Given the description of an element on the screen output the (x, y) to click on. 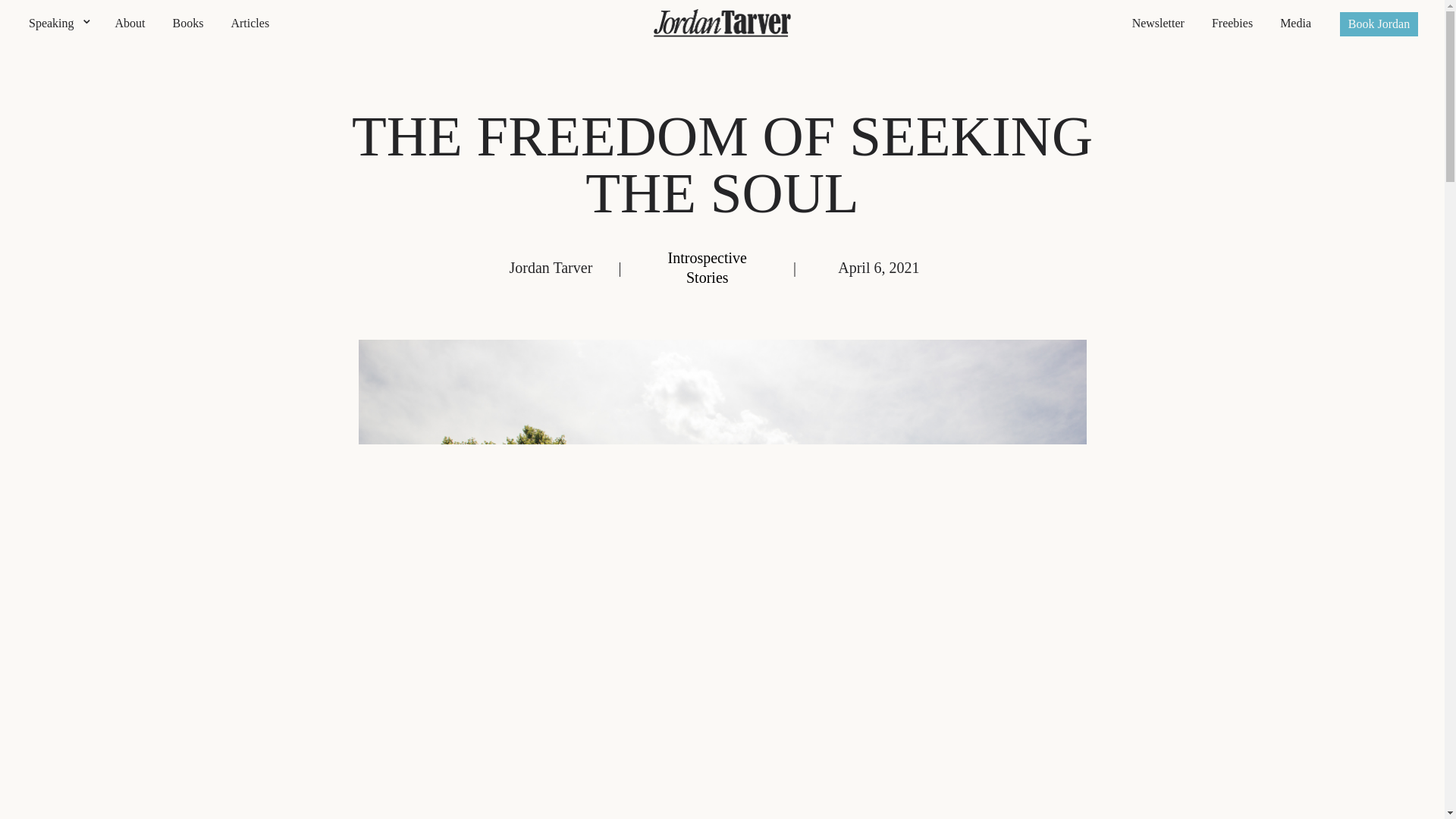
Introspective Stories (707, 267)
Articles (249, 23)
Freebies (1232, 23)
Book Jordan (1378, 24)
Newsletter (1158, 23)
About (129, 23)
Media (1295, 23)
Books (187, 23)
Speaking (57, 23)
